Given the description of an element on the screen output the (x, y) to click on. 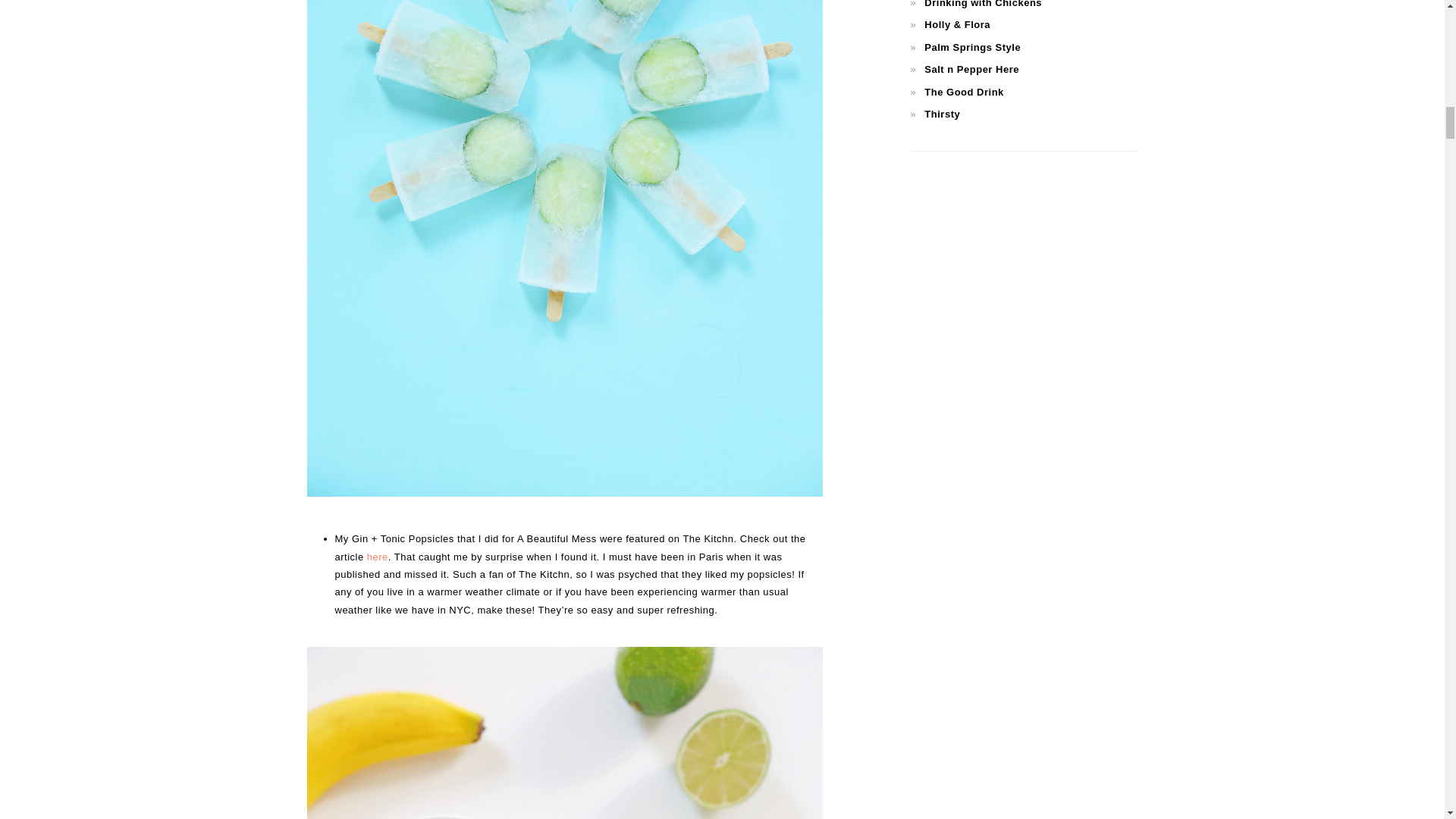
here (377, 556)
